Given the description of an element on the screen output the (x, y) to click on. 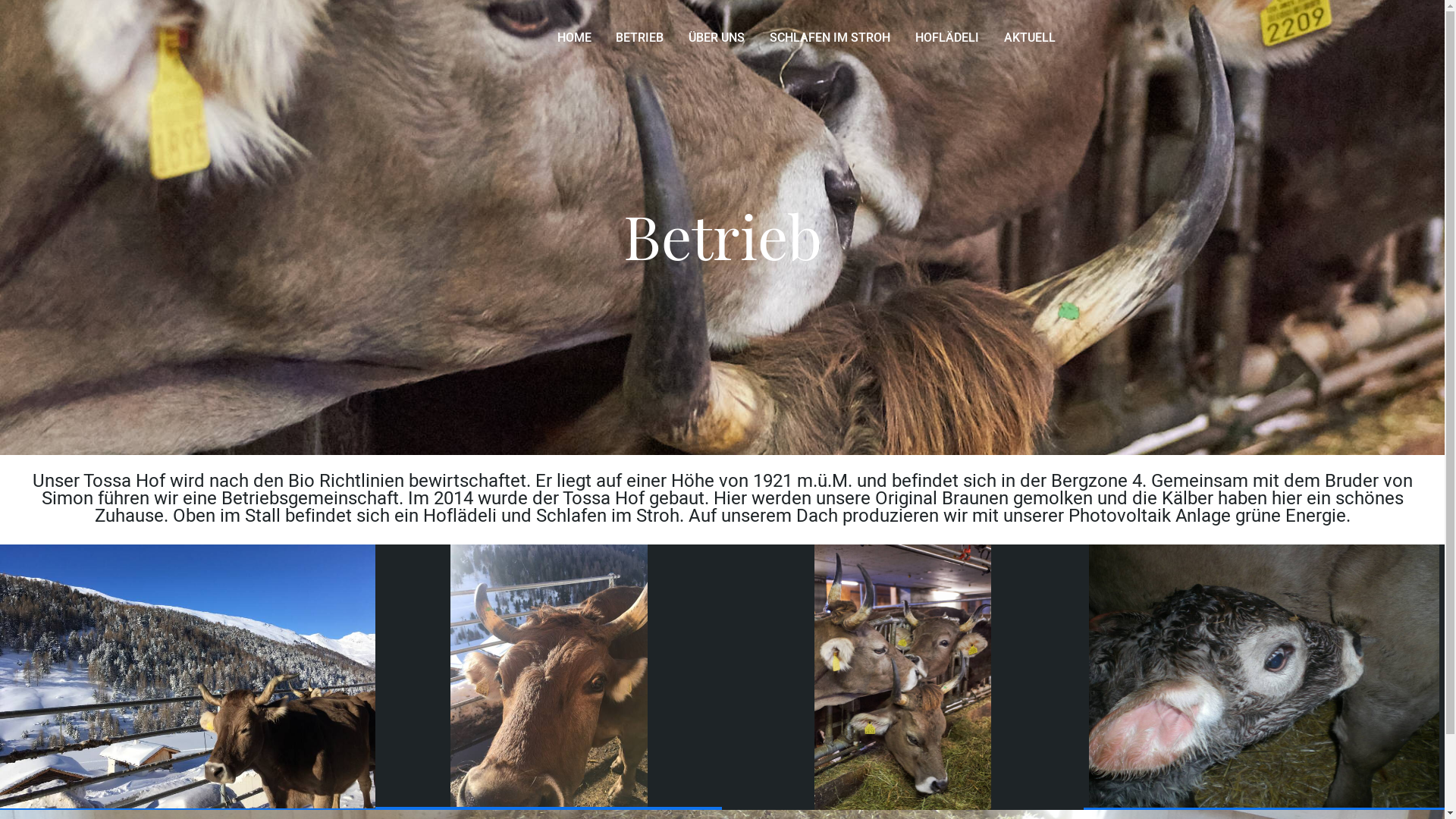
SCHLAFEN IM STROH Element type: text (829, 38)
BETRIEB Element type: text (639, 38)
HOME Element type: text (573, 38)
AKTUELL Element type: text (1029, 38)
